Given the description of an element on the screen output the (x, y) to click on. 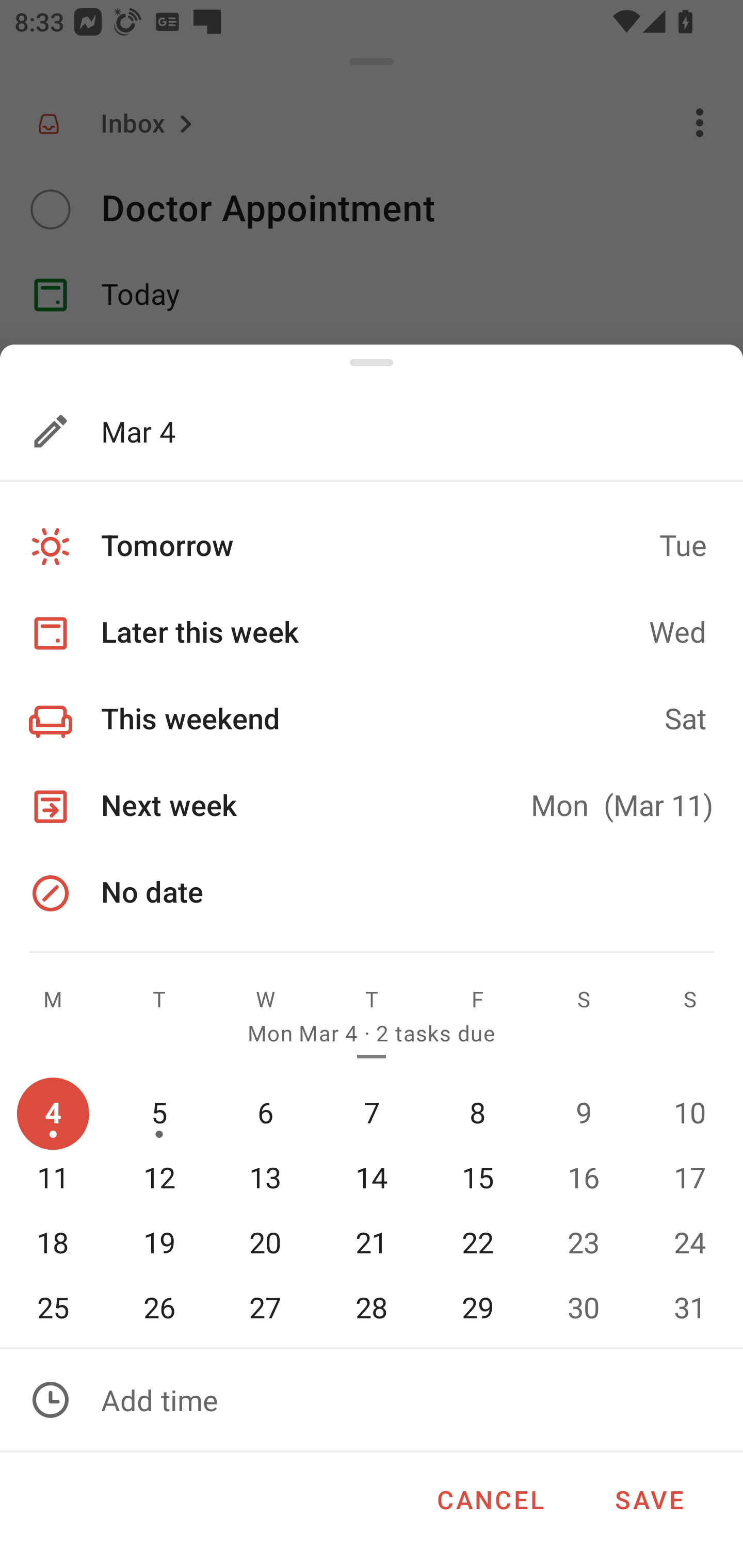
Mar 4 (334, 431)
Tomorrow Tue  (371, 546)
Later this week Wed  (371, 633)
This weekend Sat  (371, 720)
Next week Mon  (Mar 11) (371, 806)
No date (371, 892)
Add time (371, 1400)
CANCEL (489, 1495)
SAVE (648, 1495)
